Given the description of an element on the screen output the (x, y) to click on. 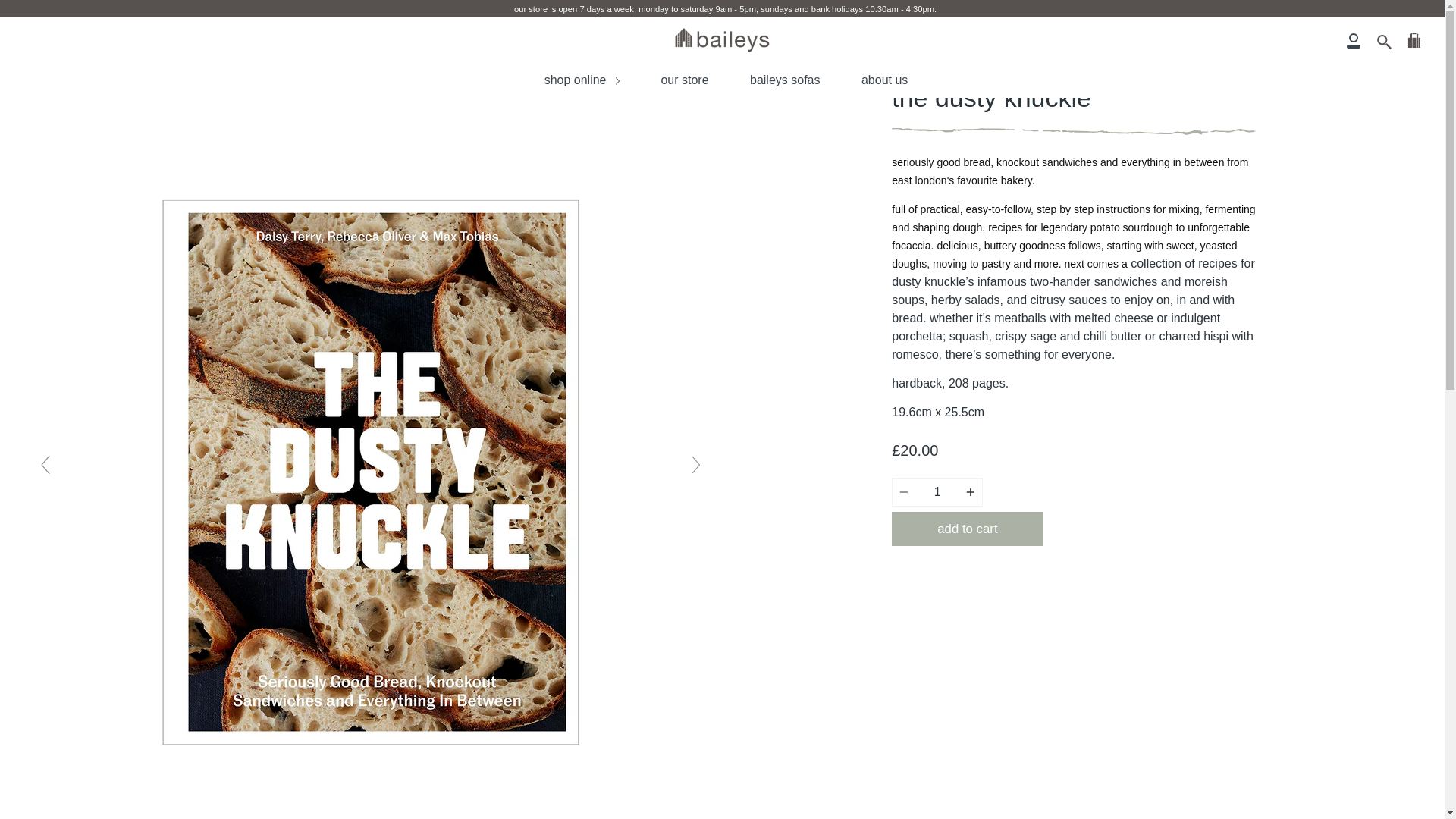
our store (683, 80)
shop online (581, 80)
home (40, 54)
about us (884, 80)
baileys sofas (784, 80)
1 (936, 491)
